Given the description of an element on the screen output the (x, y) to click on. 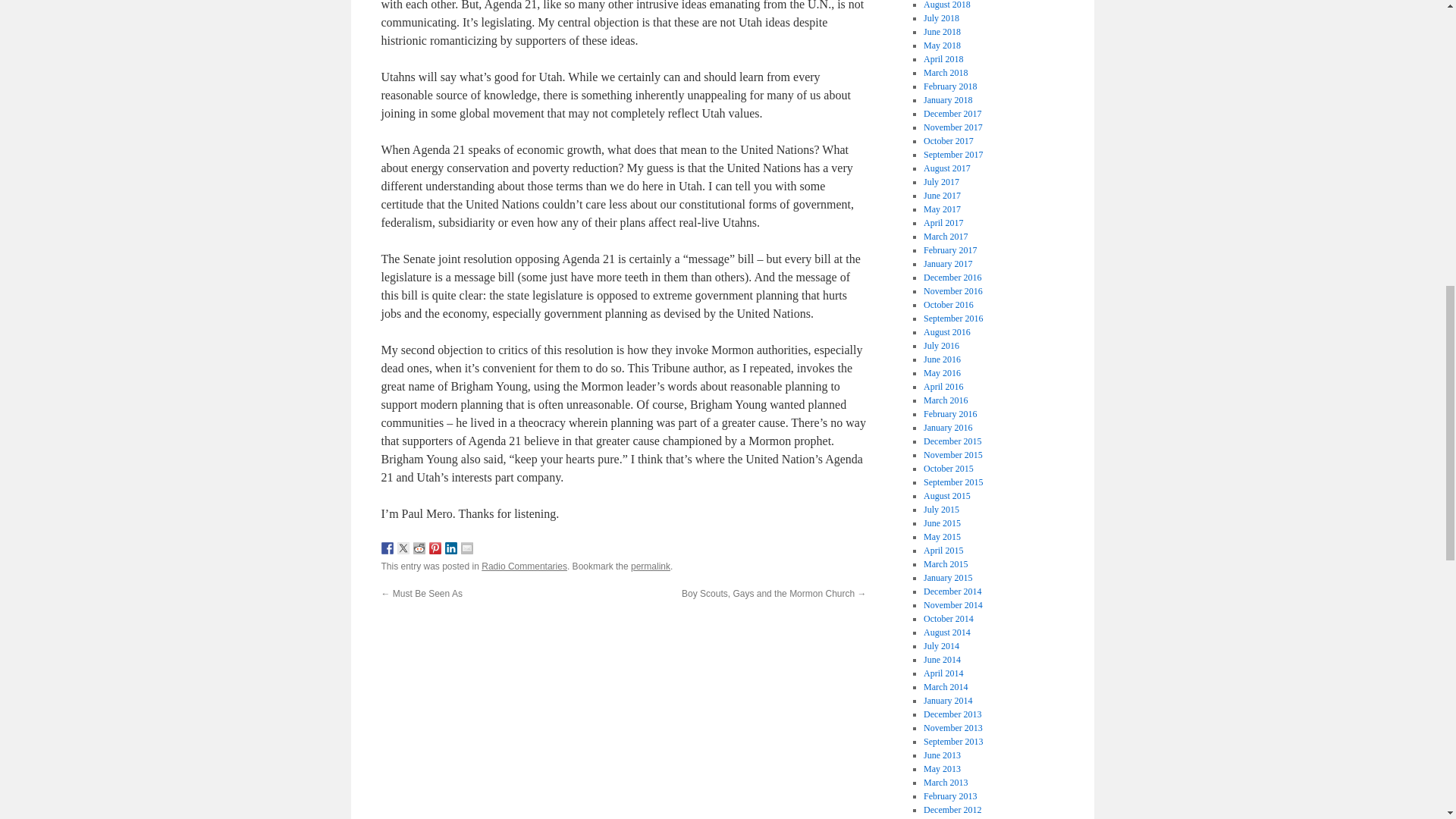
Share on Linkedin (450, 548)
Share by email (467, 548)
Share on Twitter (403, 548)
Share on Reddit (418, 548)
Share on Facebook (386, 548)
Pin it with Pinterest (435, 548)
Radio Commentaries (524, 566)
Permalink to Agenda 21 (649, 566)
permalink (649, 566)
